Given the description of an element on the screen output the (x, y) to click on. 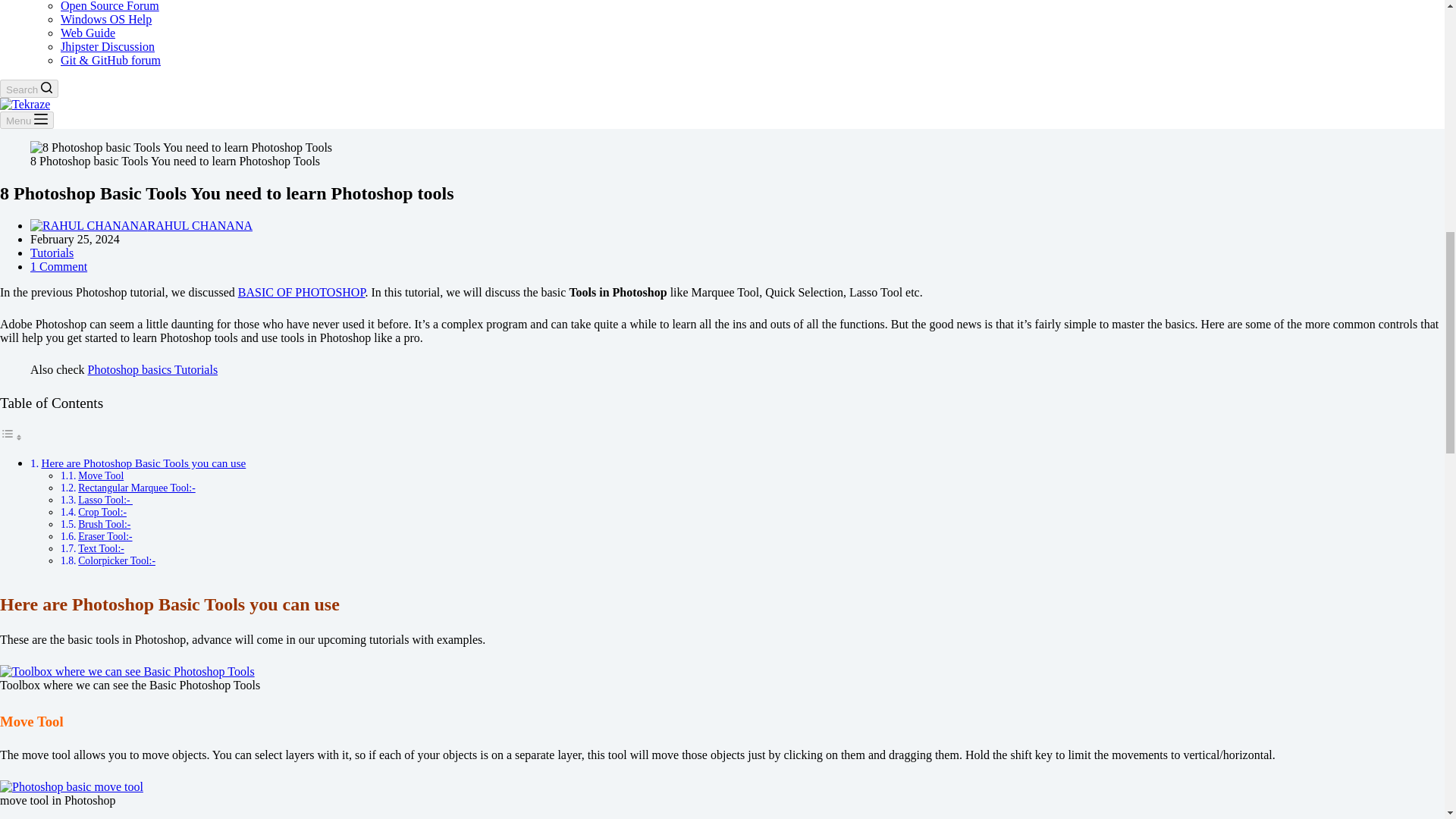
Crop Tool:- (102, 511)
Posts by RAHUL CHANANA (200, 225)
Text Tool:- (100, 548)
Brush Tool:- (104, 523)
Here are Photoshop Basic Tools you can use (143, 462)
Move Tool (100, 475)
8 Photoshop Basic Tools You need to learn Photoshop tools 1 (180, 147)
Rectangular Marquee Tool:- (136, 487)
Eraser Tool:- (105, 536)
